Given the description of an element on the screen output the (x, y) to click on. 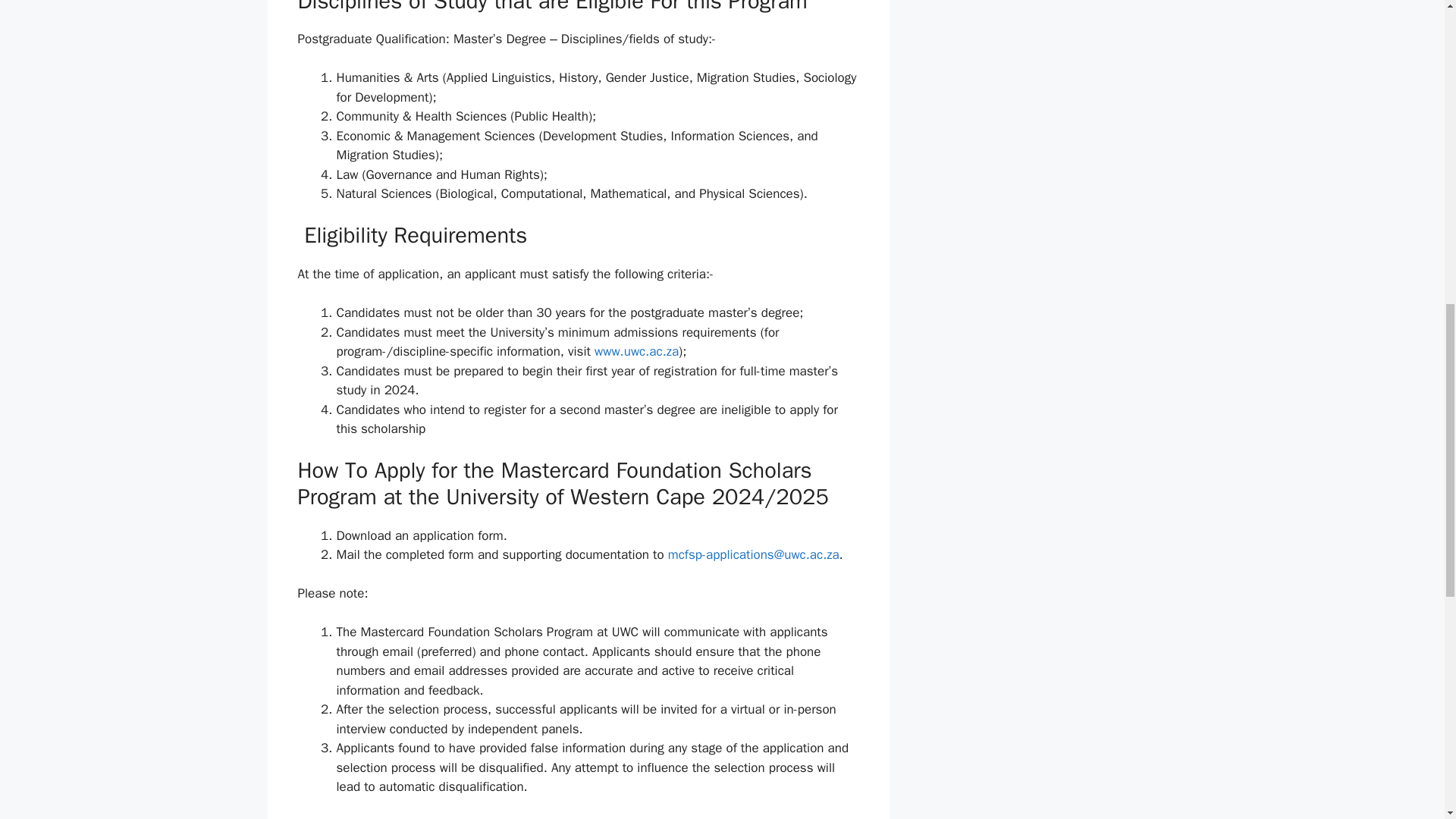
www.uwc.ac.za (636, 351)
